Given the description of an element on the screen output the (x, y) to click on. 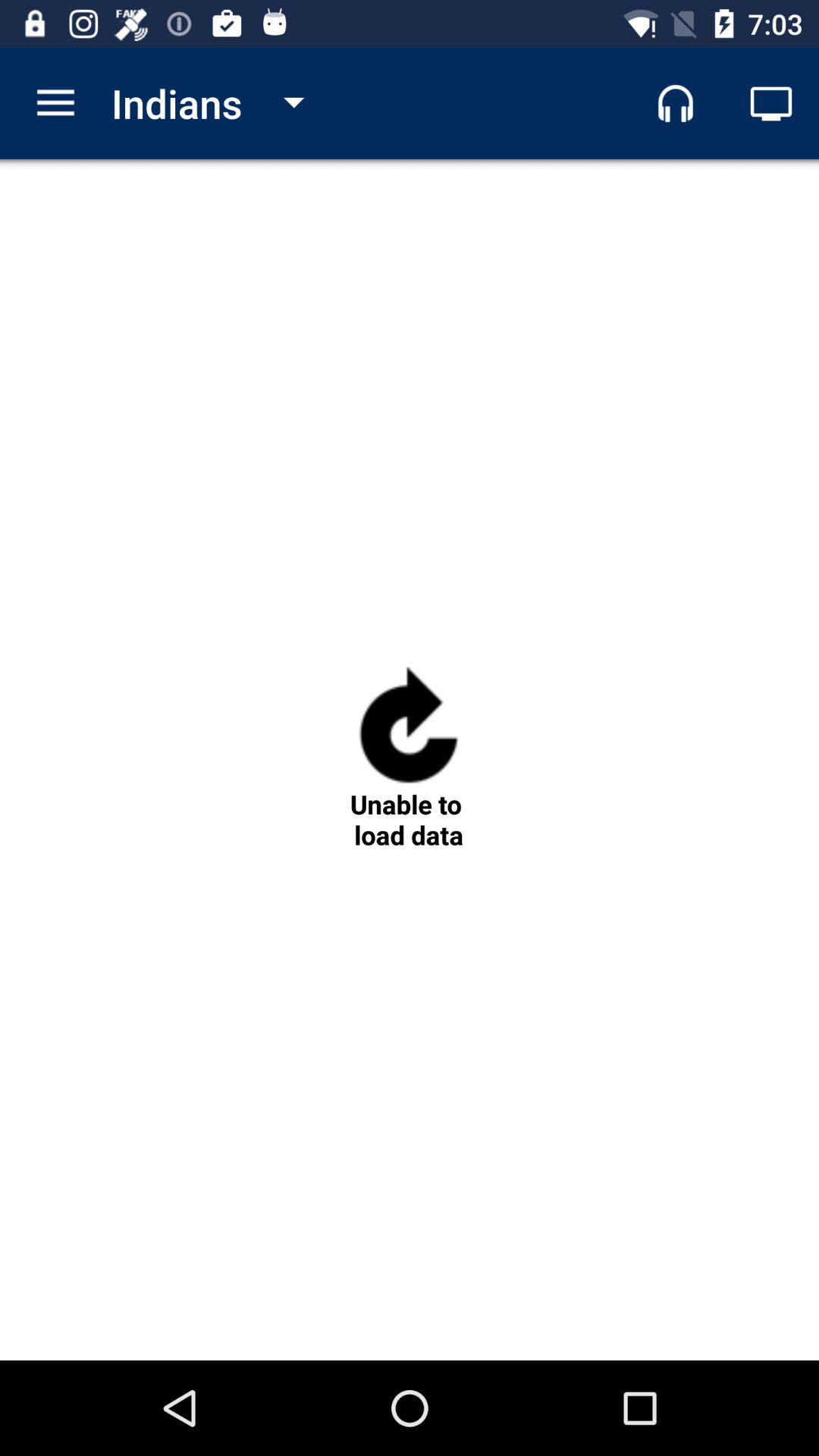
turn on the item next to indians icon (55, 103)
